Given the description of an element on the screen output the (x, y) to click on. 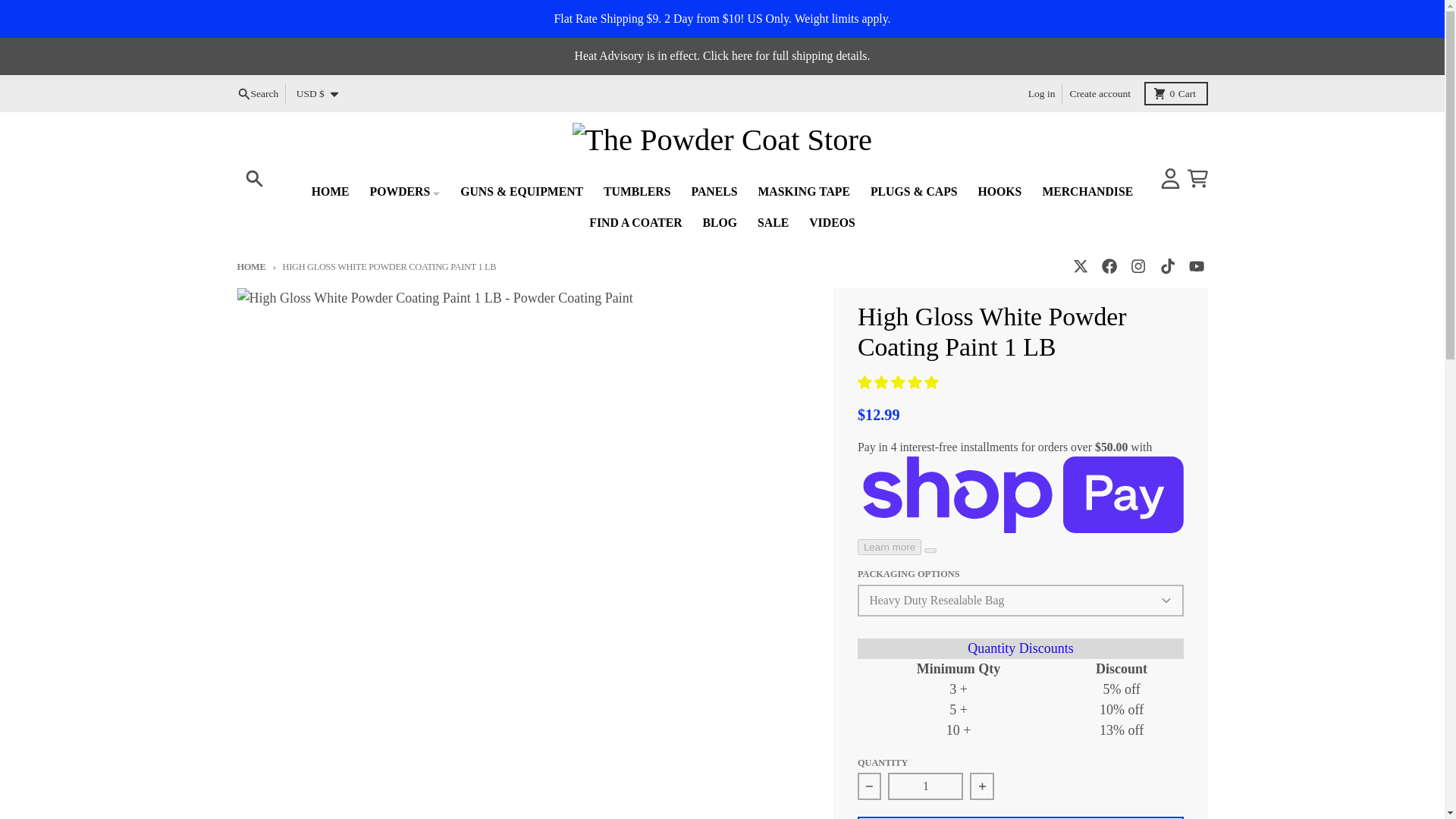
Twitter - The Powder Coat Store (1176, 93)
YouTube - The Powder Coat Store (1079, 266)
Search (1196, 266)
Instagram - The Powder Coat Store (257, 93)
1 (1138, 266)
TikTok - The Powder Coat Store (925, 786)
Back to the homepage (1166, 266)
Log in (249, 266)
Create account (1042, 93)
